Given the description of an element on the screen output the (x, y) to click on. 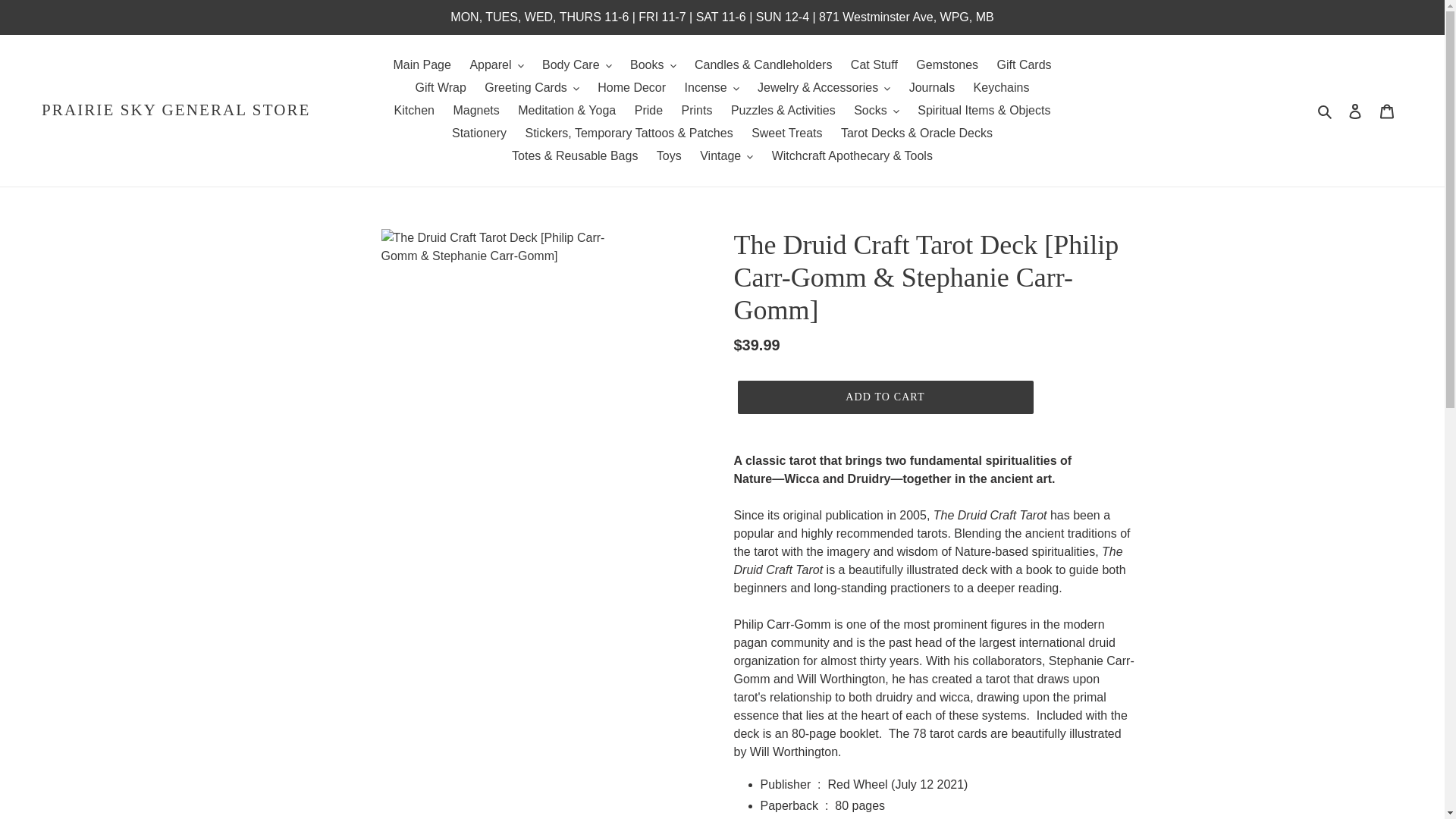
Body Care (577, 65)
Main Page (421, 65)
PRAIRIE SKY GENERAL STORE (176, 109)
Apparel (496, 65)
Books (652, 65)
